Given the description of an element on the screen output the (x, y) to click on. 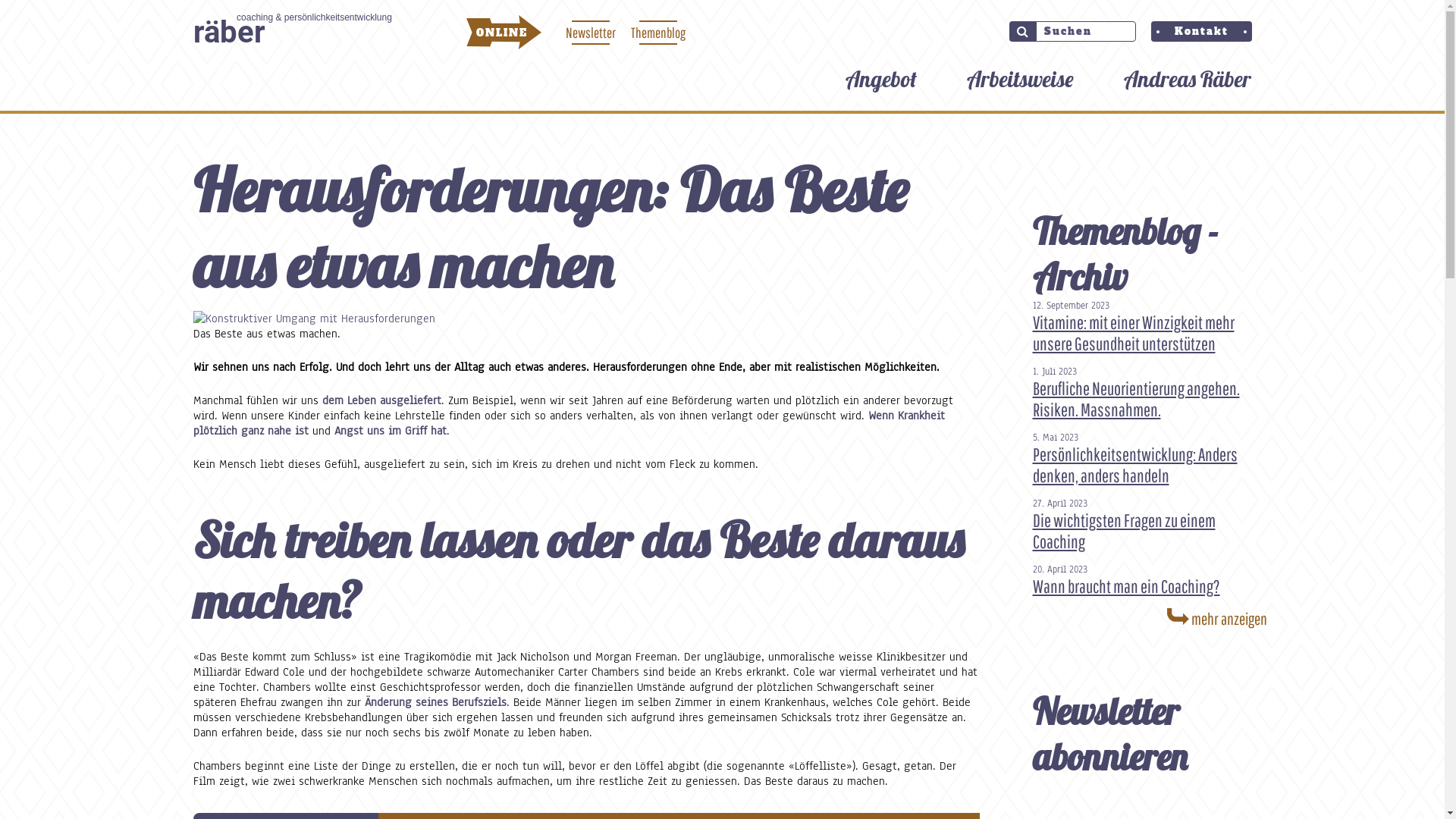
dem Leben ausgeliefert Element type: text (380, 399)
Newsletter Element type: text (590, 32)
27. April 2023
Die wichtigsten Fragen zu einem Coaching Element type: text (1149, 524)
Arbeitsweise Element type: text (1019, 78)
Angst uns im Griff hat Element type: text (389, 430)
Angebot Element type: text (880, 78)
20. April 2023
Wann braucht man ein Coaching? Element type: text (1149, 579)
mehr anzeigen Element type: text (1149, 617)
Themenblog Element type: text (658, 32)
